Given the description of an element on the screen output the (x, y) to click on. 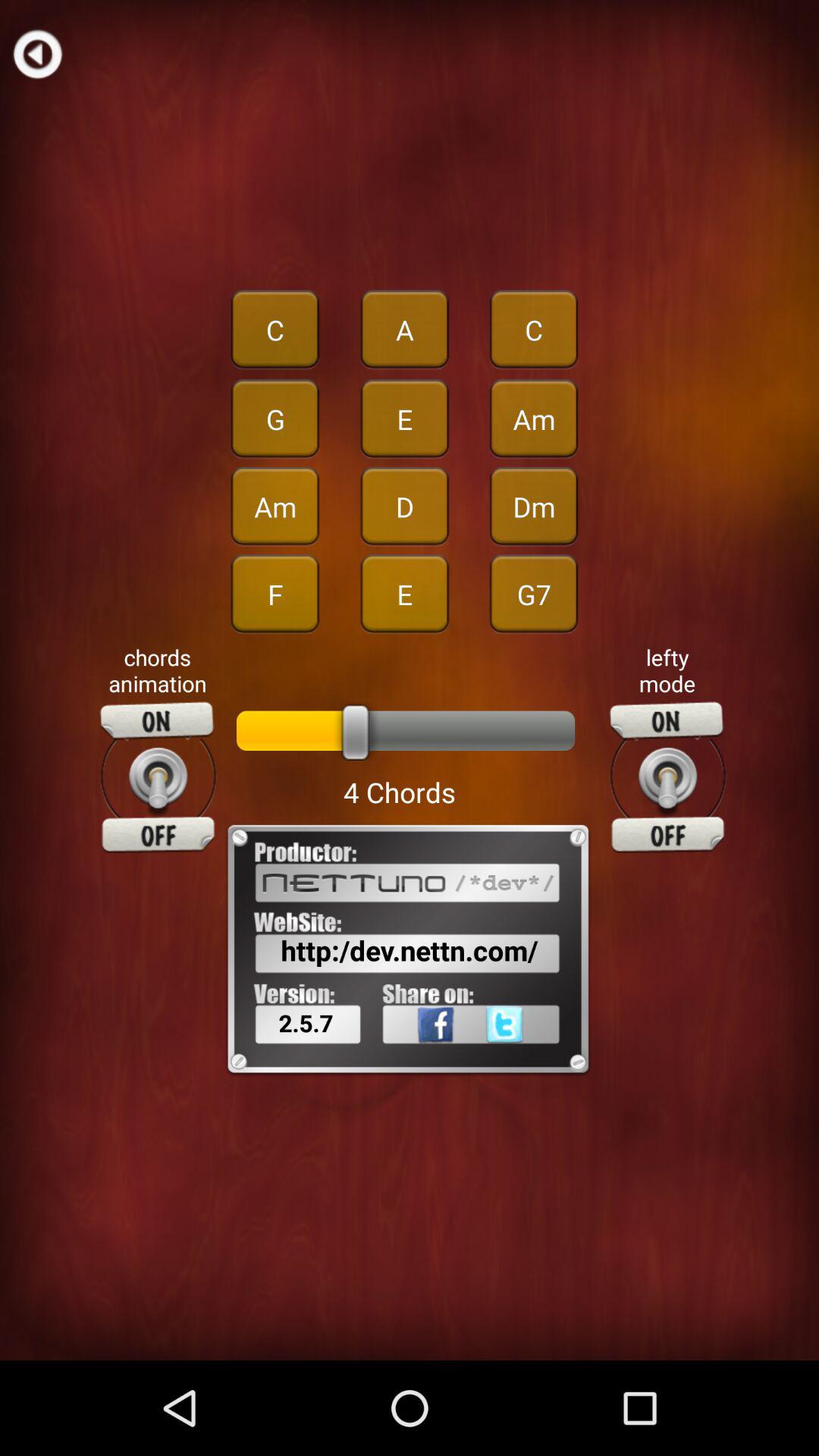
select app next to 2.5.7 (528, 1057)
